Given the description of an element on the screen output the (x, y) to click on. 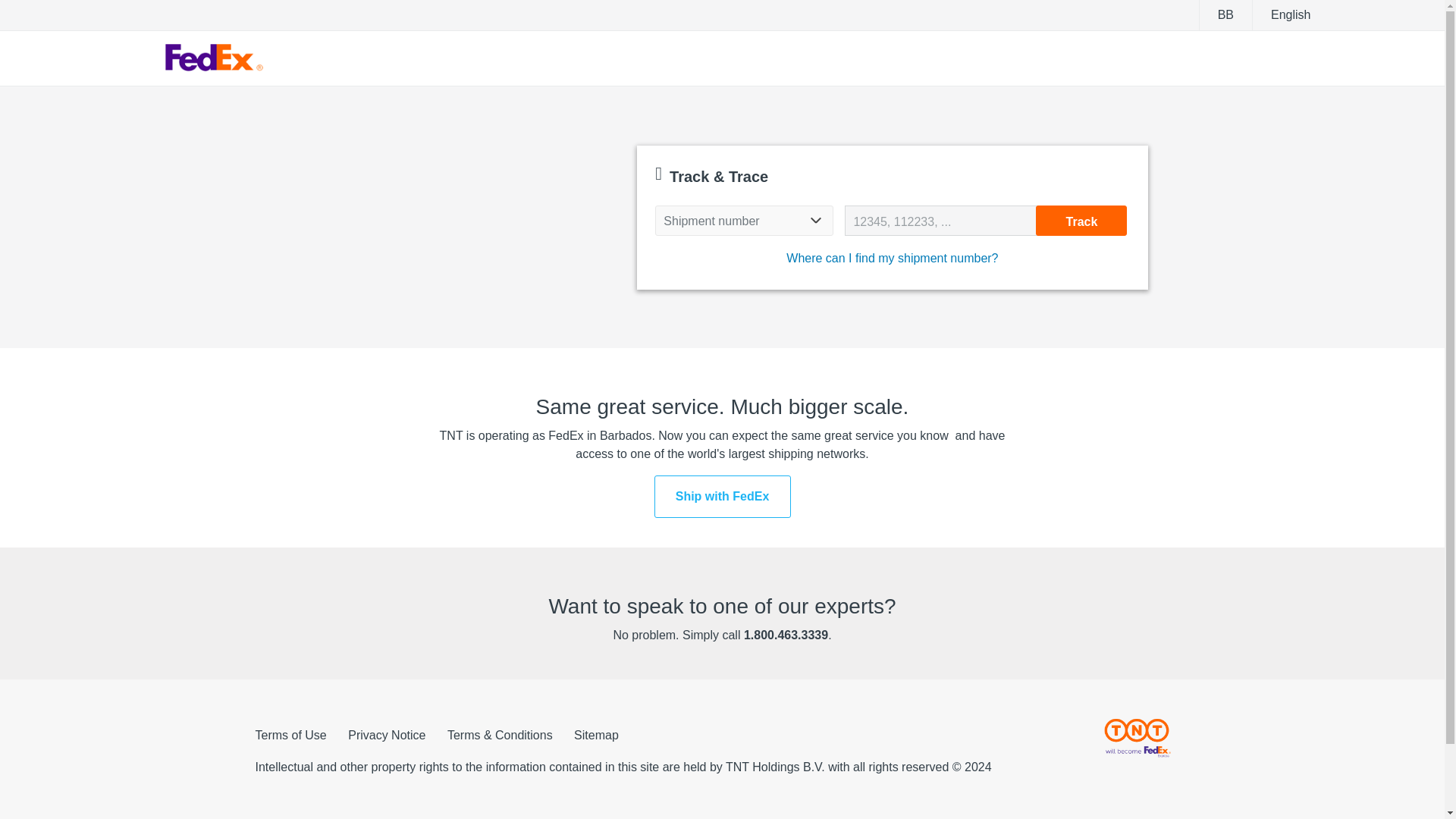
Where can I find my shipment number? (892, 257)
Ship with FedEx (721, 496)
BB (1225, 15)
Track (1080, 219)
Sitemap (595, 735)
English (1289, 15)
Privacy Notice (386, 735)
Terms of Use (290, 735)
